Given the description of an element on the screen output the (x, y) to click on. 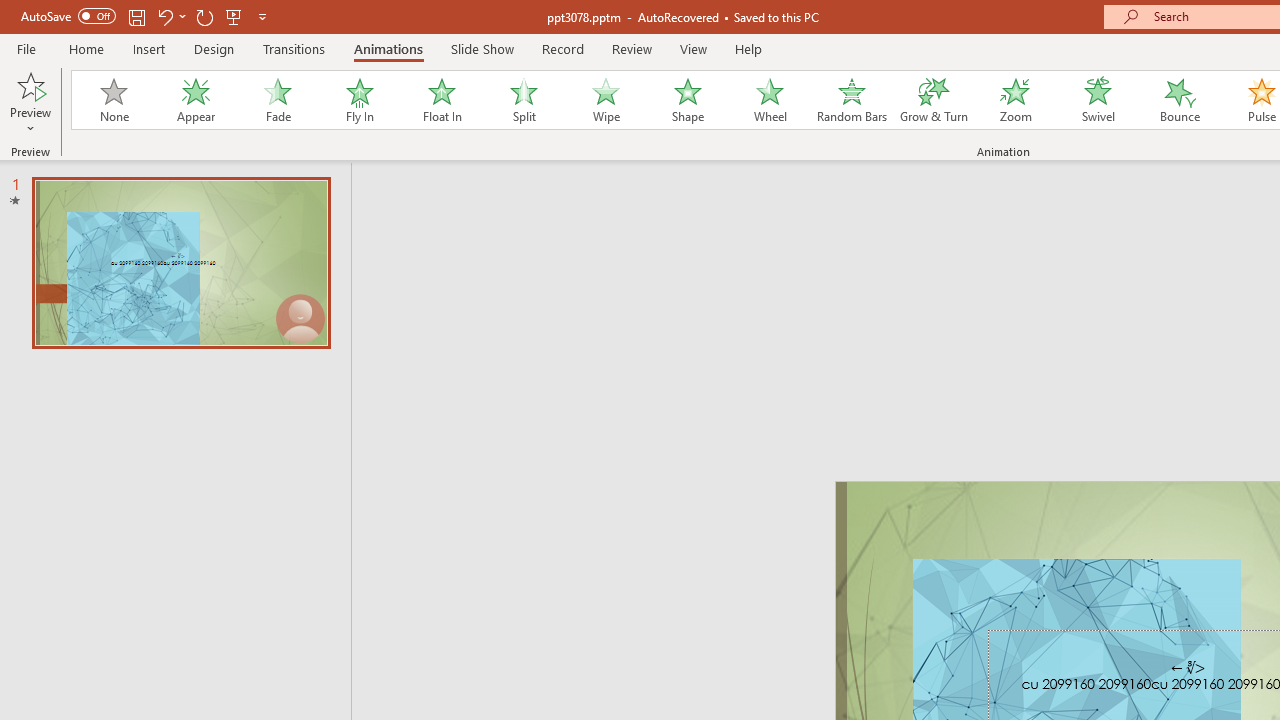
Fly In (359, 100)
Shape (687, 100)
Random Bars (852, 100)
None (113, 100)
Float In (441, 100)
